Given the description of an element on the screen output the (x, y) to click on. 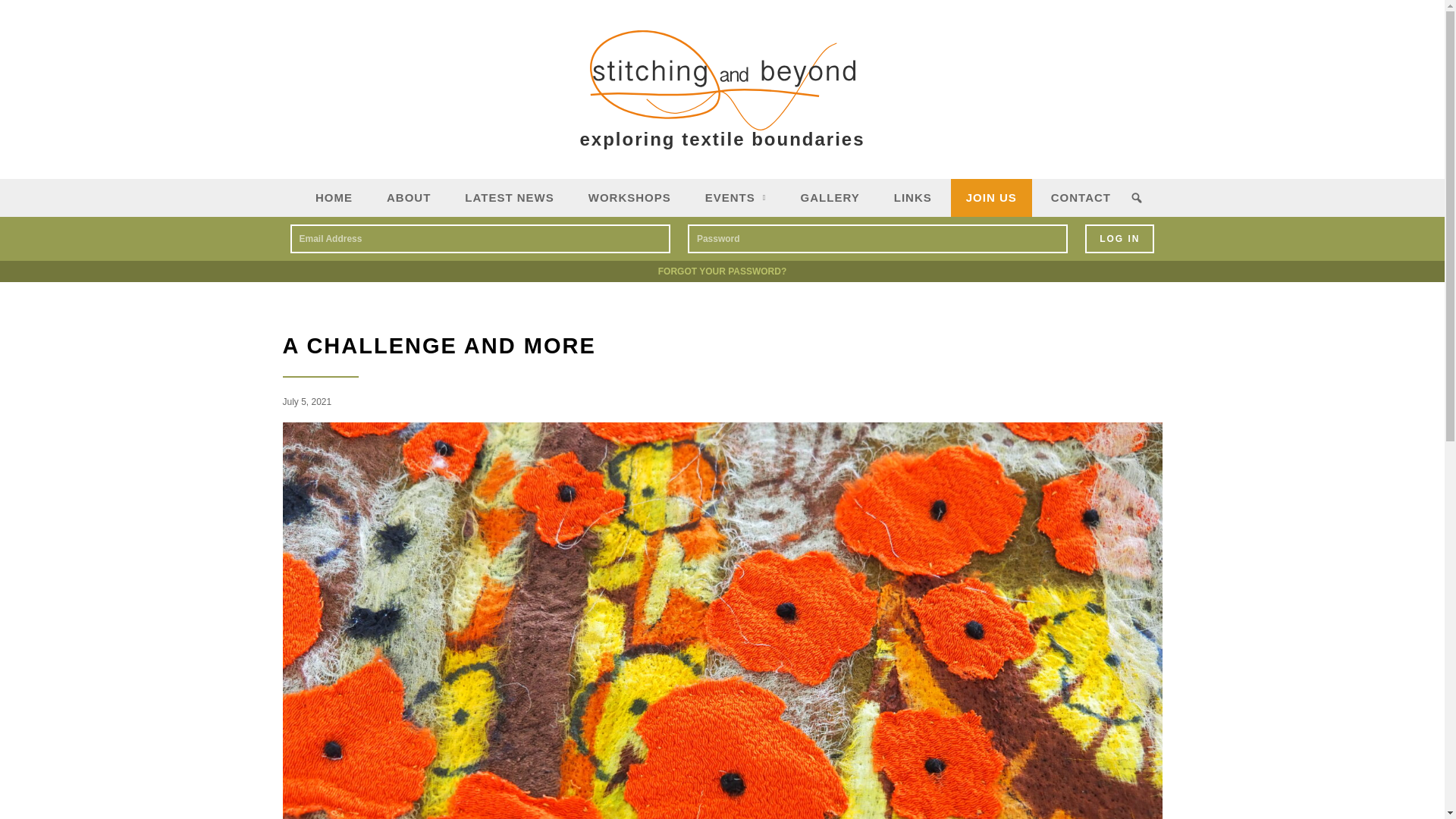
LOG IN (1119, 238)
ABOUT (408, 198)
LATEST NEWS (509, 198)
HOME (333, 198)
JOIN US (991, 198)
WORKSHOPS (629, 198)
FORGOT YOUR PASSWORD? (722, 271)
EVENTS (735, 198)
GALLERY (830, 198)
LINKS (913, 198)
CONTACT (1080, 198)
